Given the description of an element on the screen output the (x, y) to click on. 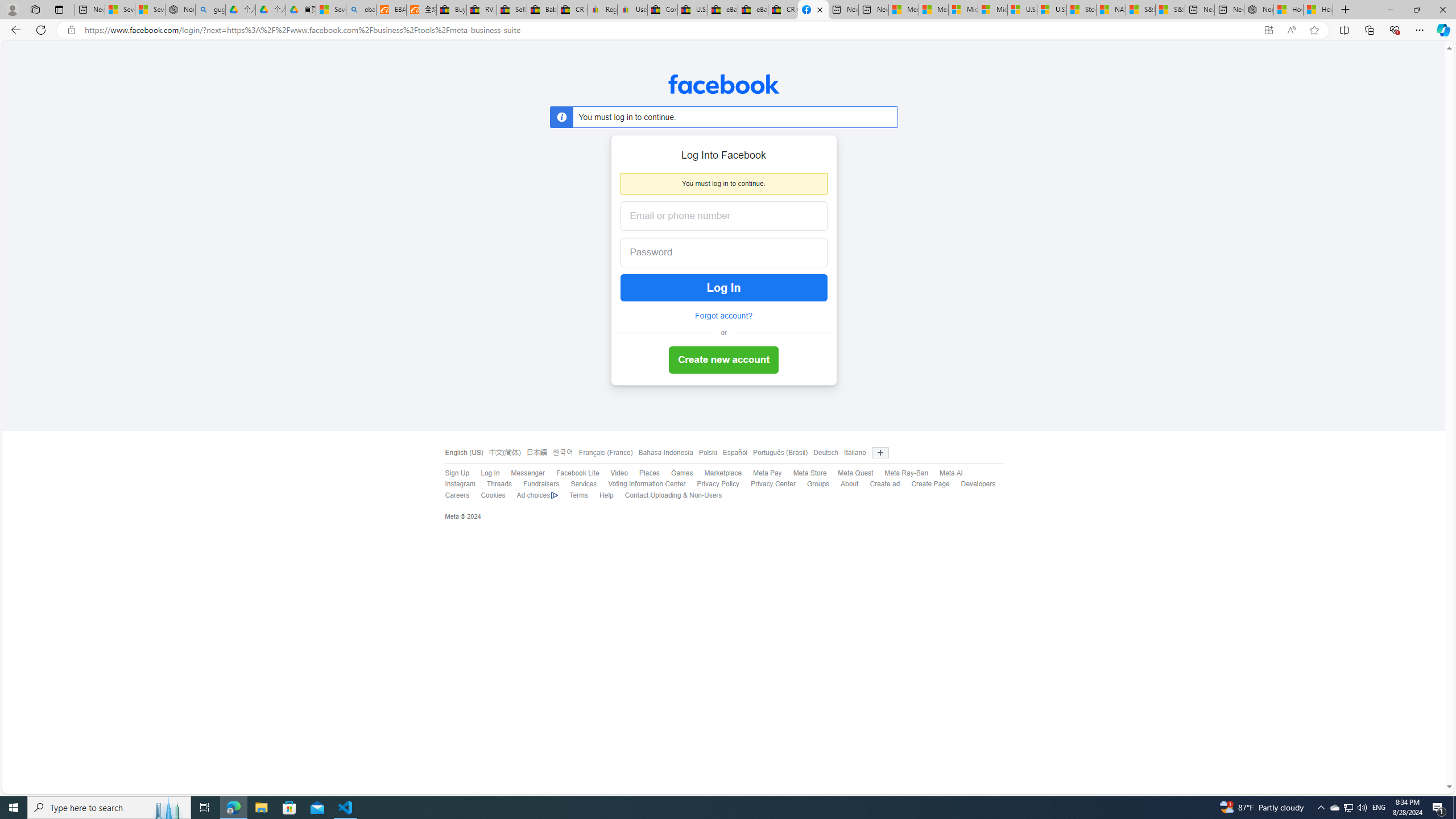
Register: Create a personal eBay account (601, 9)
Marketplace (717, 473)
Contact Uploading & Non-Users (673, 494)
Cookies (492, 494)
Meta Quest (850, 473)
Baby Keepsakes & Announcements for sale | eBay (542, 9)
Meta Pay (766, 473)
Messenger (527, 473)
Meta AI (945, 473)
App available. Install Facebook (1268, 29)
